Given the description of an element on the screen output the (x, y) to click on. 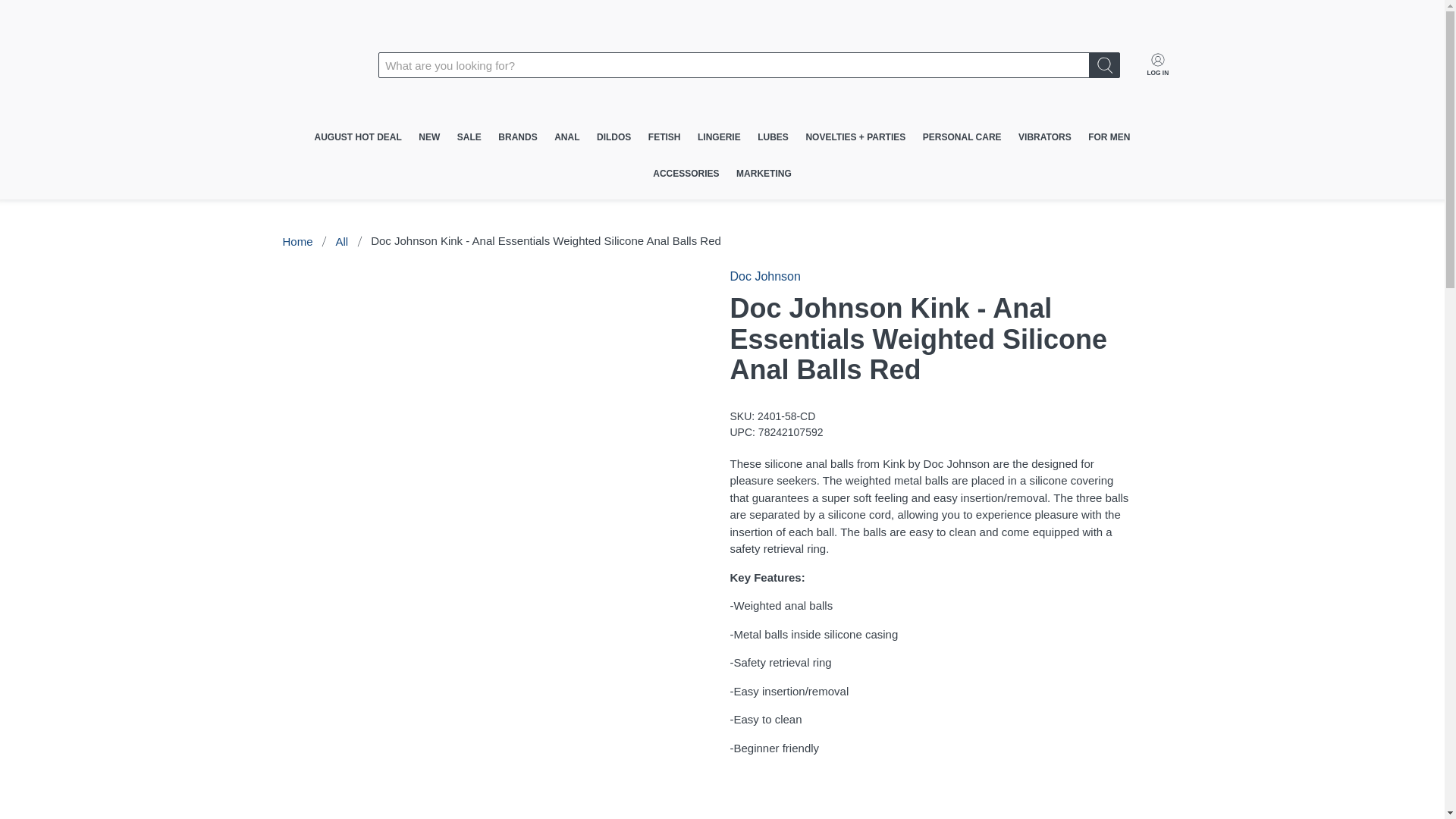
MARKETING (763, 173)
NEW (429, 136)
ACCESSORIES (686, 173)
DILDOS (614, 136)
FETISH (664, 136)
BMS Enterprises (297, 241)
PERSONAL CARE (962, 136)
LUBES (772, 136)
ANAL (567, 136)
AUGUST HOT DEAL (357, 136)
